Given the description of an element on the screen output the (x, y) to click on. 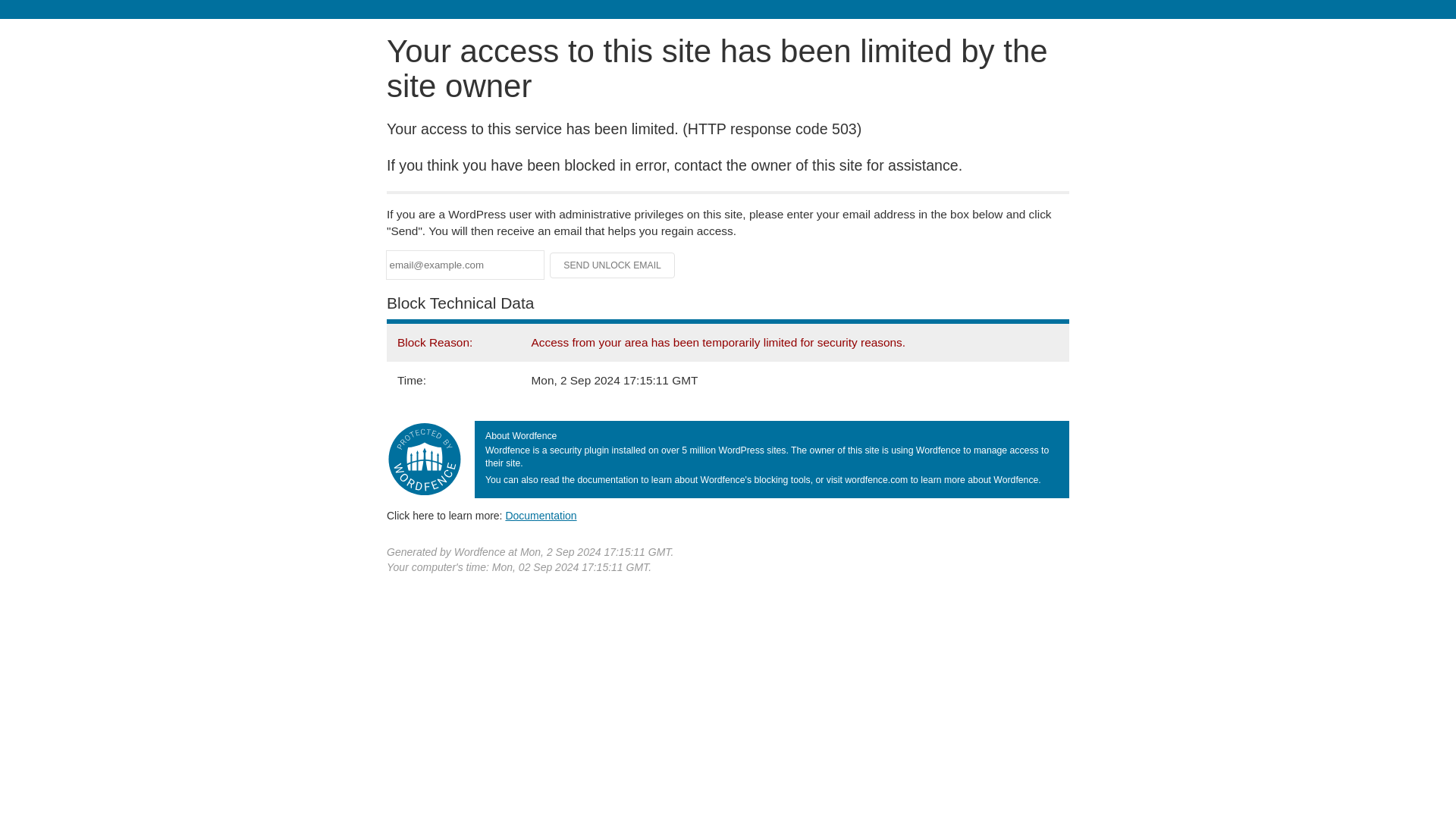
Documentation (540, 515)
Send Unlock Email (612, 265)
Send Unlock Email (612, 265)
